Given the description of an element on the screen output the (x, y) to click on. 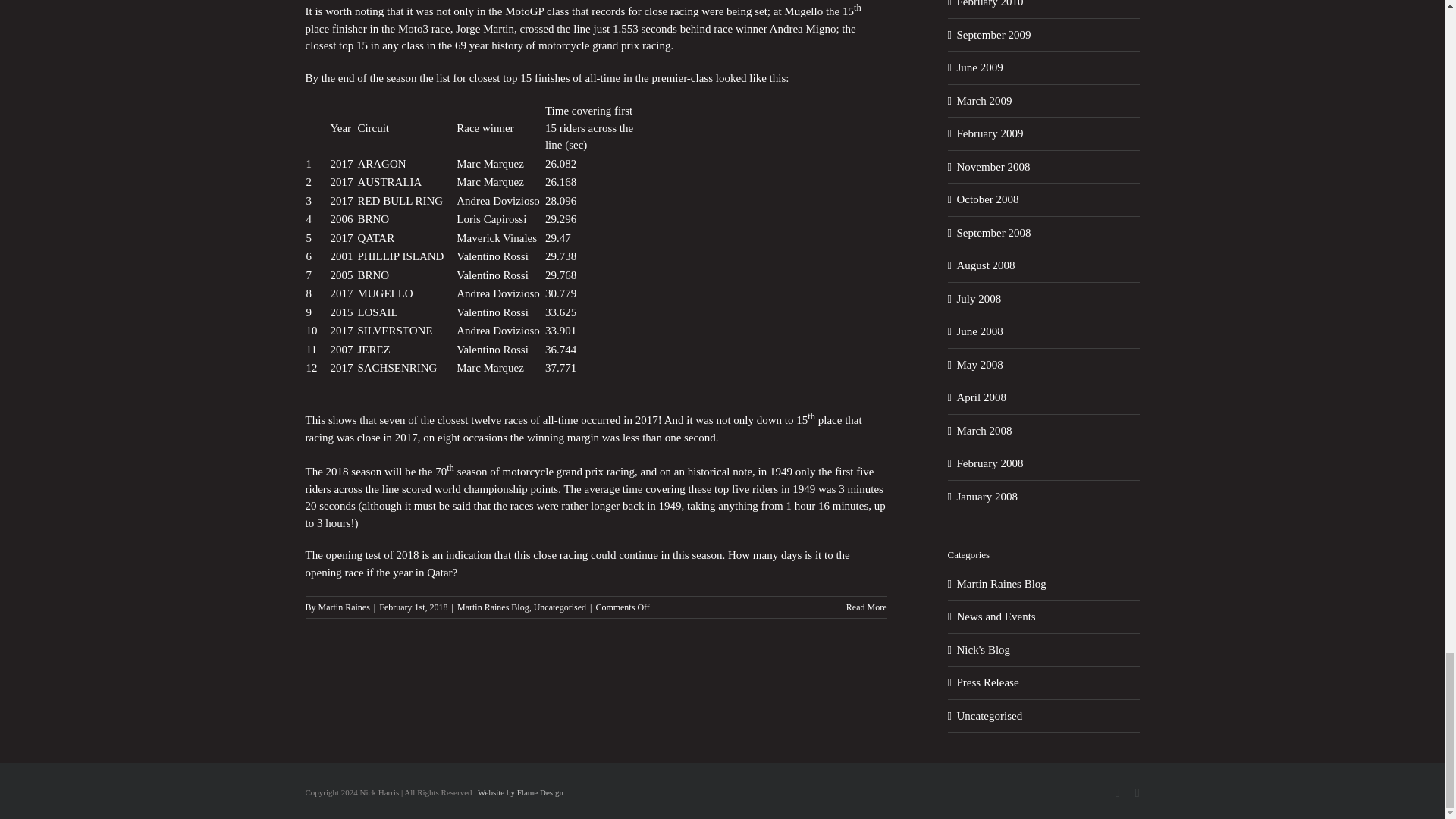
Posts by Martin Raines (343, 606)
